Given the description of an element on the screen output the (x, y) to click on. 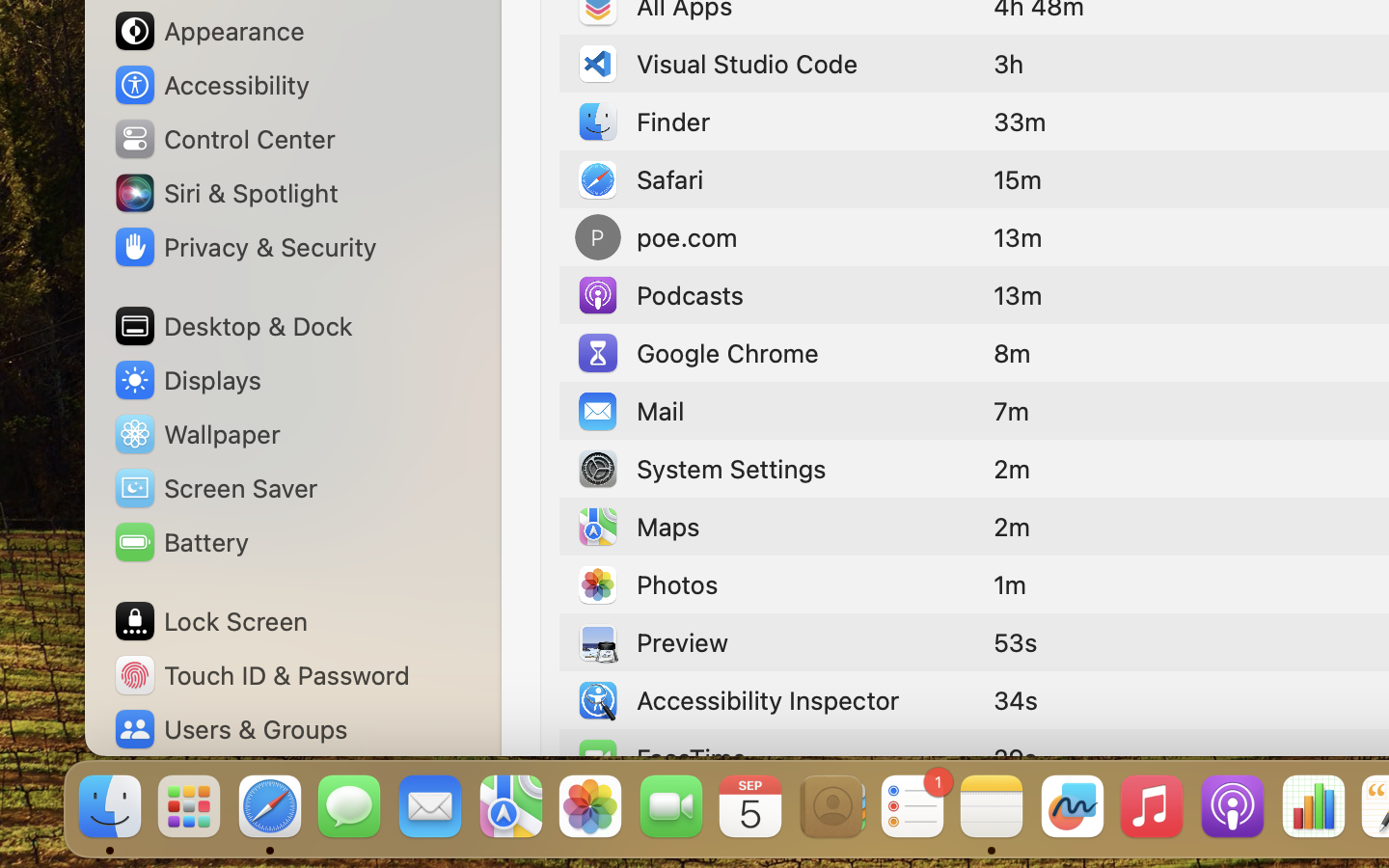
Maps Element type: AXStaticText (637, 526)
Preview Element type: AXStaticText (651, 642)
Displays Element type: AXStaticText (186, 379)
Battery Element type: AXStaticText (179, 541)
3h Element type: AXStaticText (1008, 63)
